Given the description of an element on the screen output the (x, y) to click on. 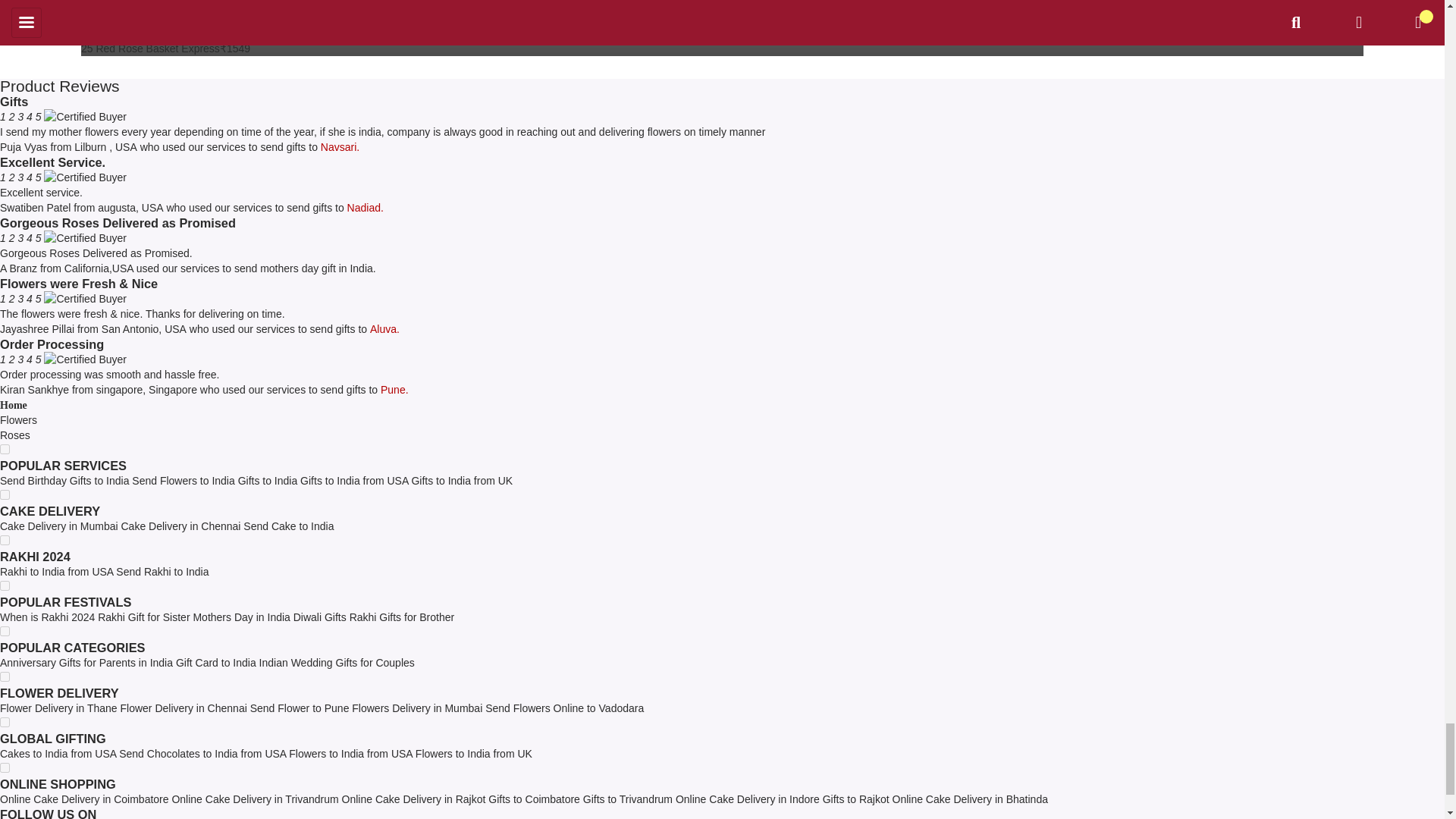
on (5, 540)
on (5, 585)
on (5, 449)
on (5, 676)
on (5, 722)
on (5, 631)
on (5, 494)
on (5, 767)
